Given the description of an element on the screen output the (x, y) to click on. 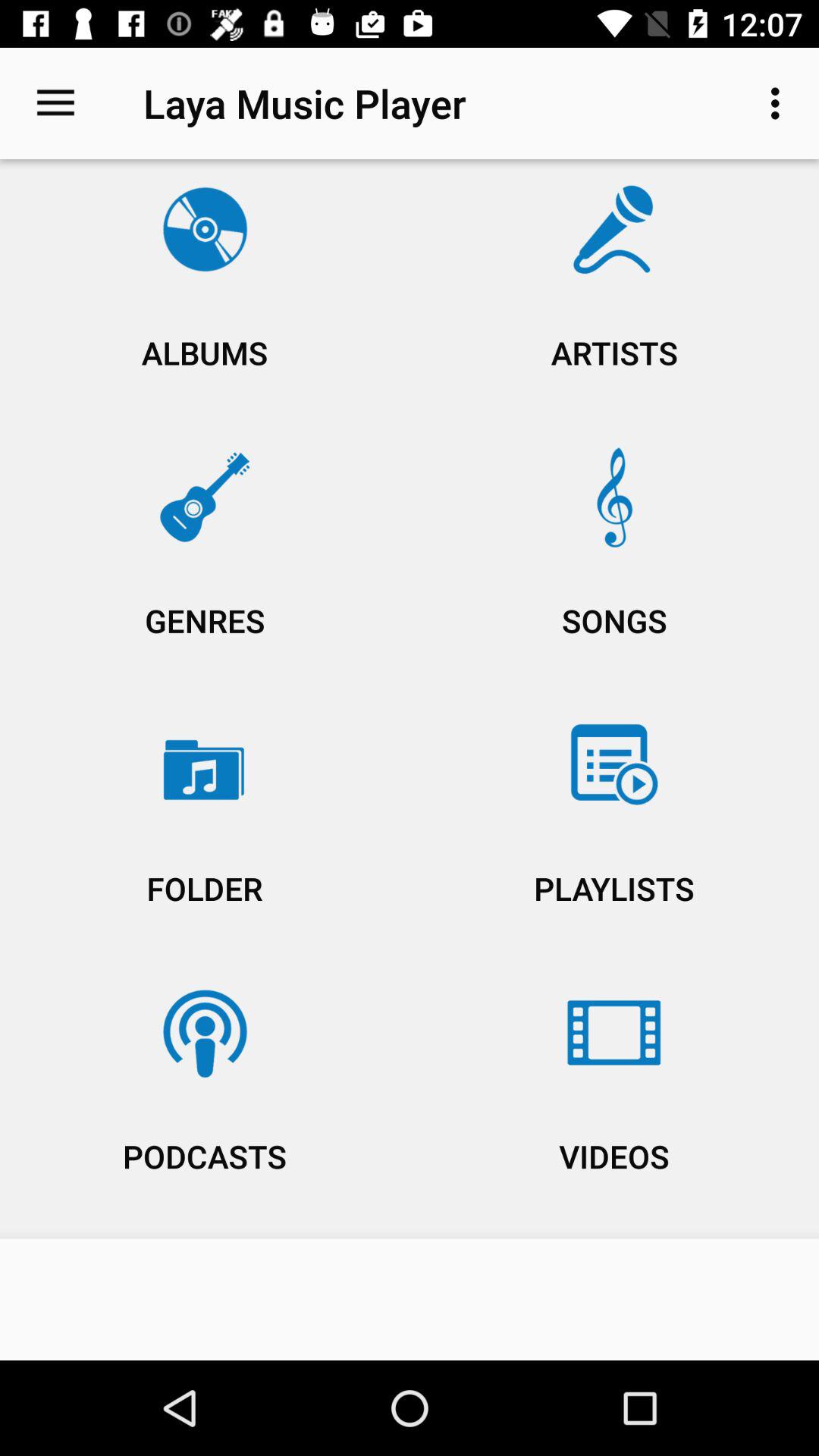
swipe to the videos item (614, 1100)
